Given the description of an element on the screen output the (x, y) to click on. 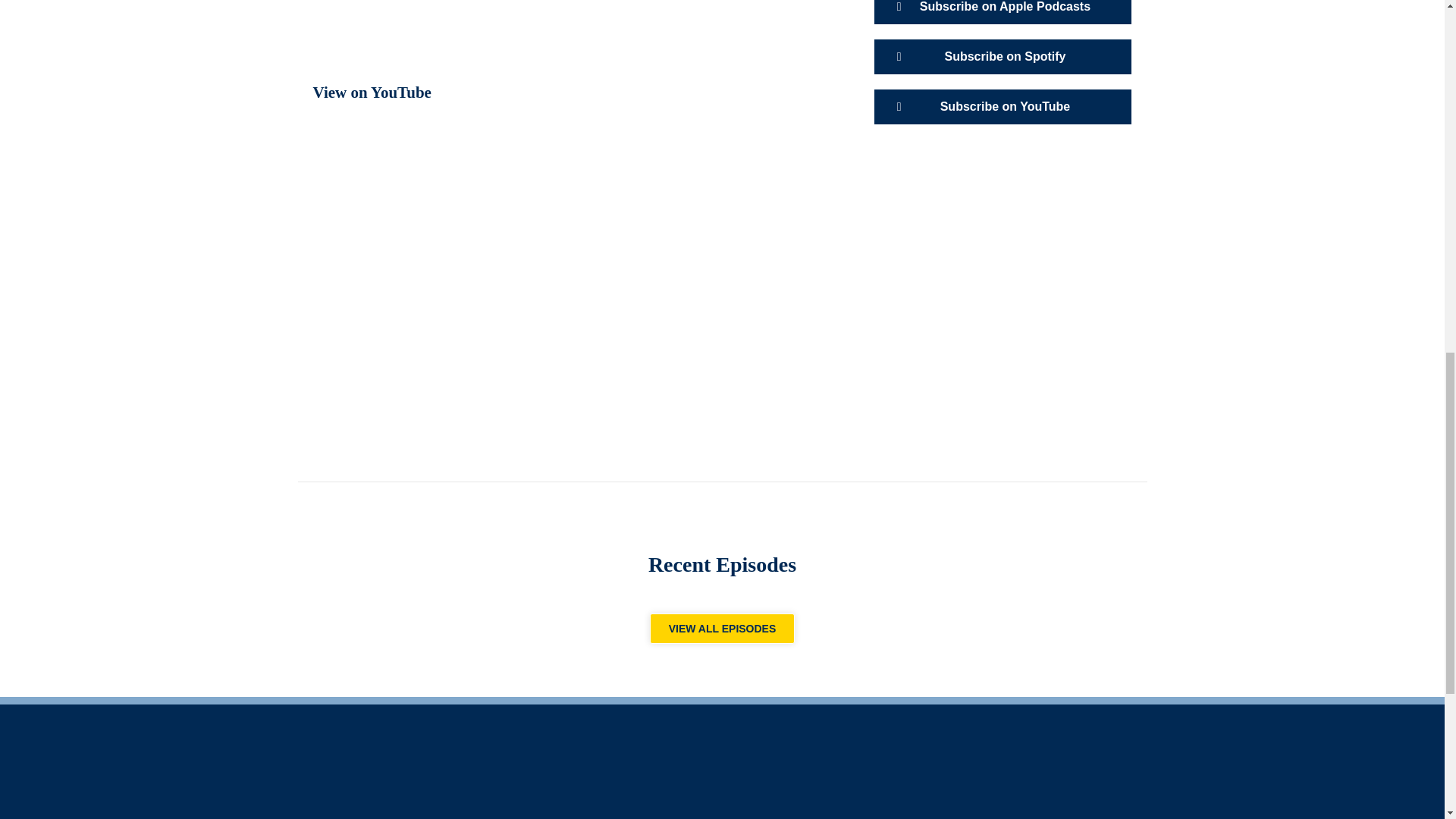
Subscribe on Apple Podcasts (1003, 12)
Embed Player (570, 31)
VIEW ALL EPISODES (721, 628)
Subscribe on Spotify (1003, 56)
Subscribe on YouTube (1003, 106)
